Given the description of an element on the screen output the (x, y) to click on. 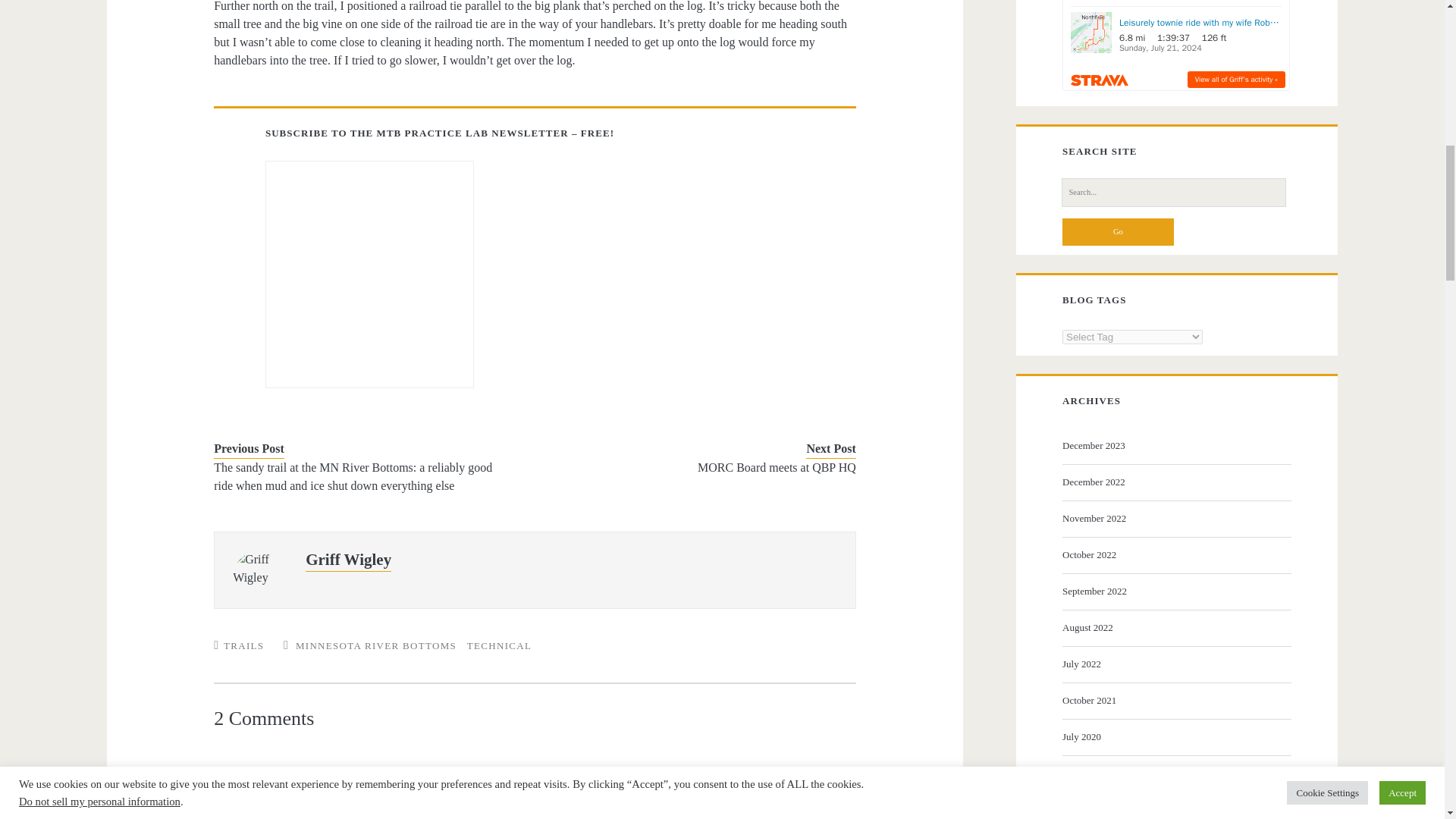
TRAILS (243, 645)
Go (1117, 231)
Go (1117, 231)
December 2022 (1174, 482)
November 2022 (1174, 518)
September 2022 (1174, 591)
July 2022 (1174, 664)
December 2023 (1174, 445)
Go (1117, 231)
TECHNICAL (499, 645)
charlie (277, 781)
MORC Board meets at QBP HQ (708, 467)
MINNESOTA RIVER BOTTOMS (376, 645)
August 2022 (1174, 628)
